Given the description of an element on the screen output the (x, y) to click on. 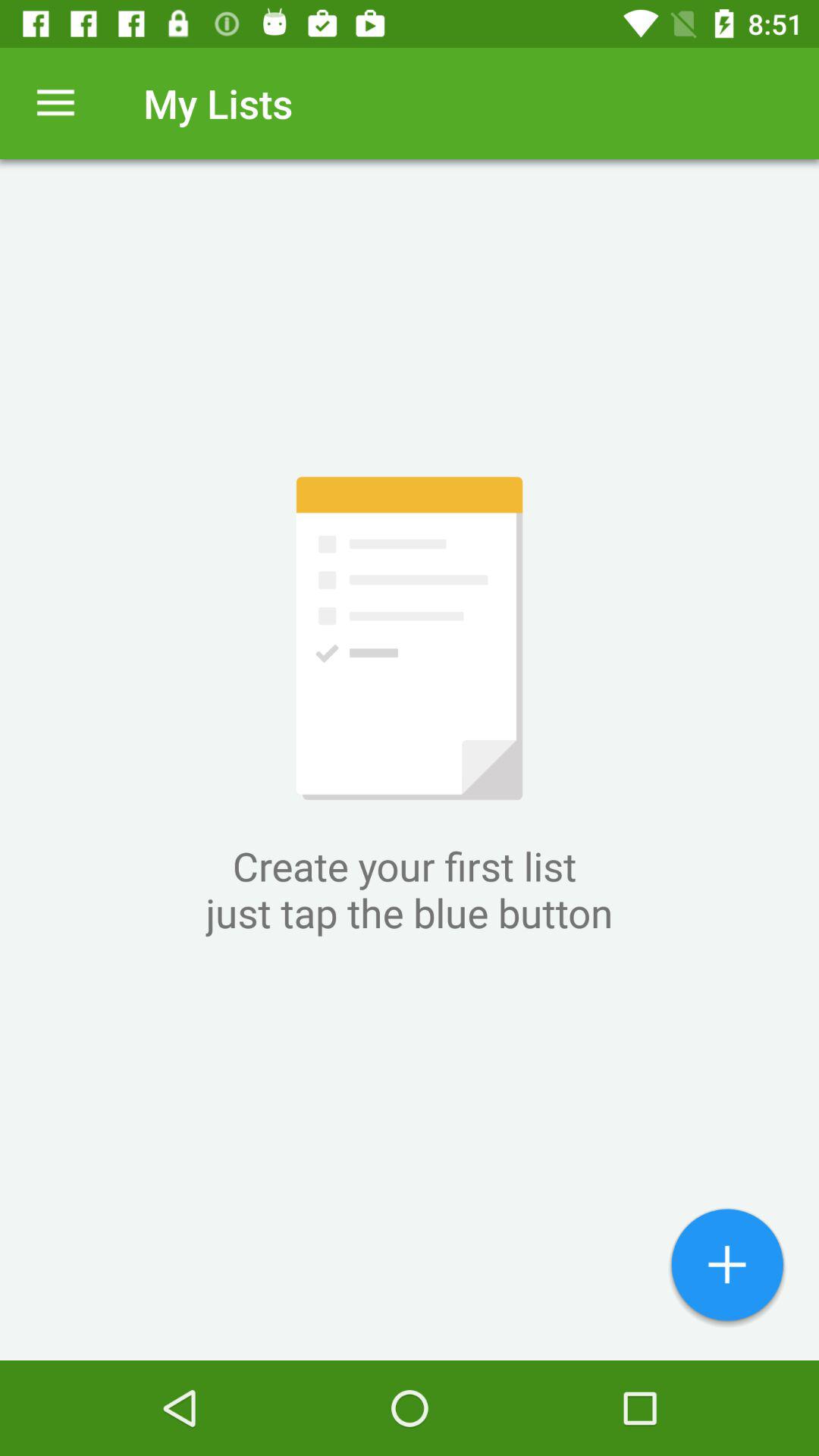
tap item at the bottom right corner (727, 1266)
